Given the description of an element on the screen output the (x, y) to click on. 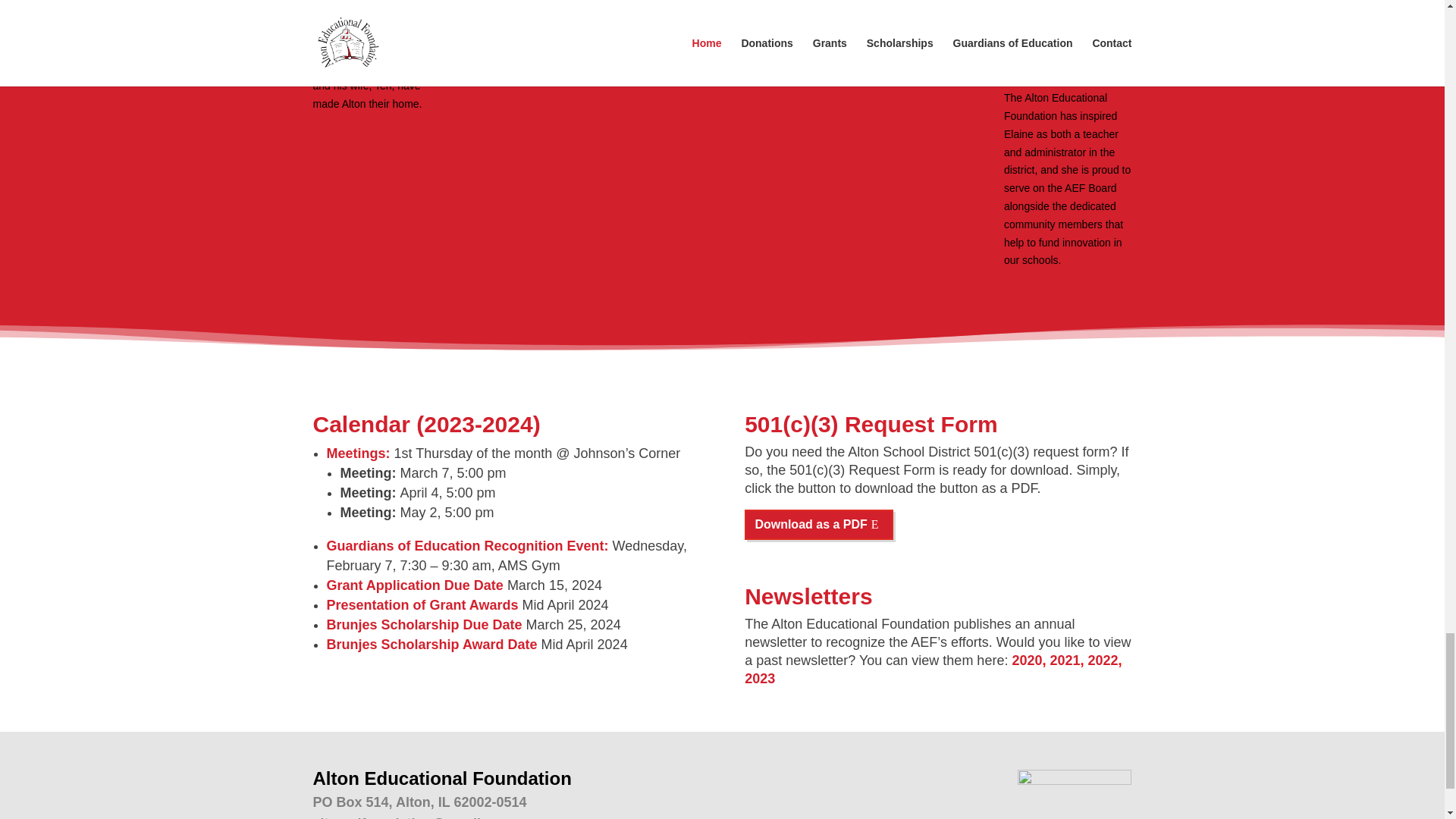
2023 (759, 678)
2020 (1026, 660)
Download as a PDF (818, 524)
2021 (1064, 660)
2022 (1102, 660)
